Given the description of an element on the screen output the (x, y) to click on. 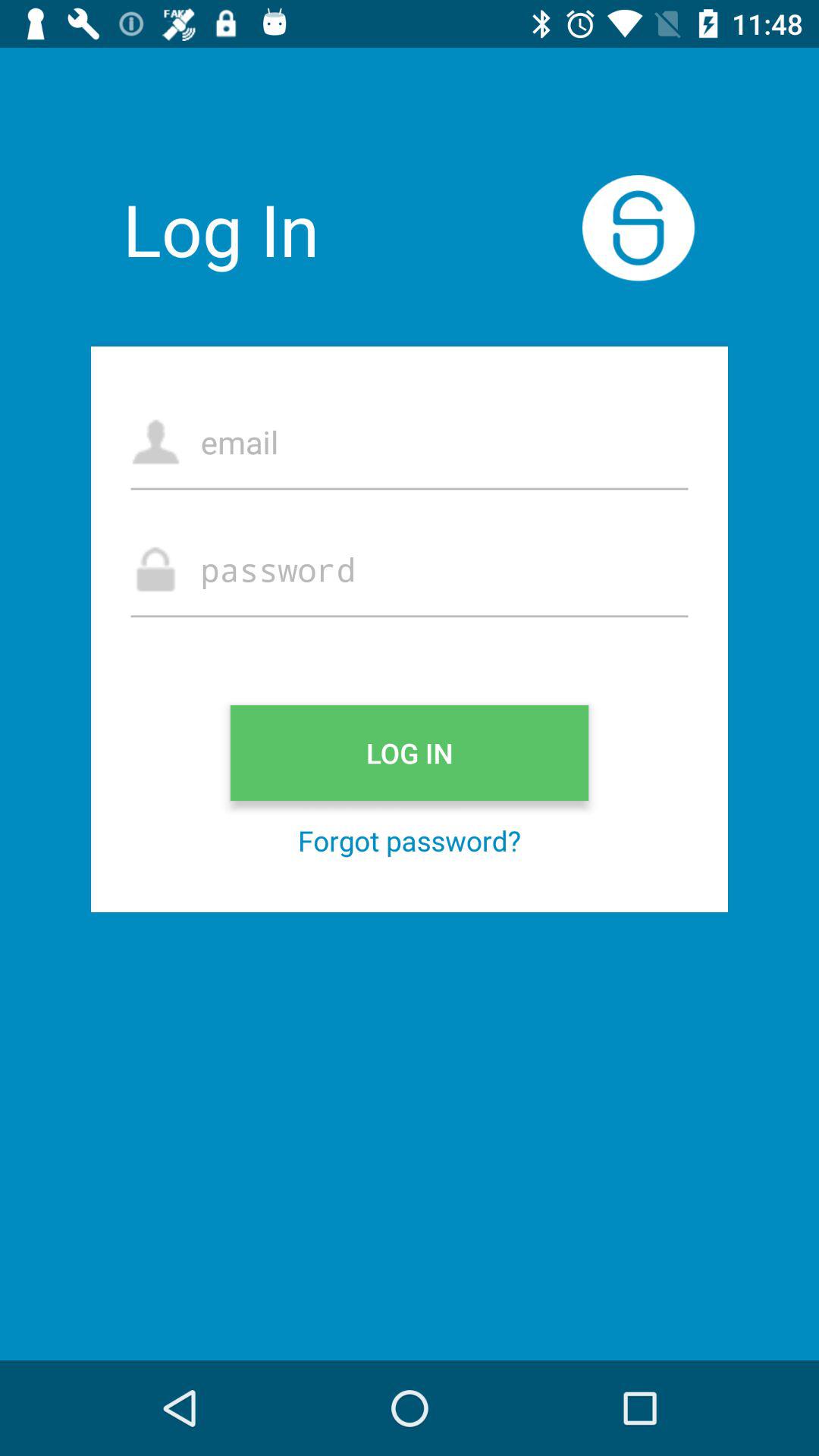
tap the icon below log in (409, 840)
